Given the description of an element on the screen output the (x, y) to click on. 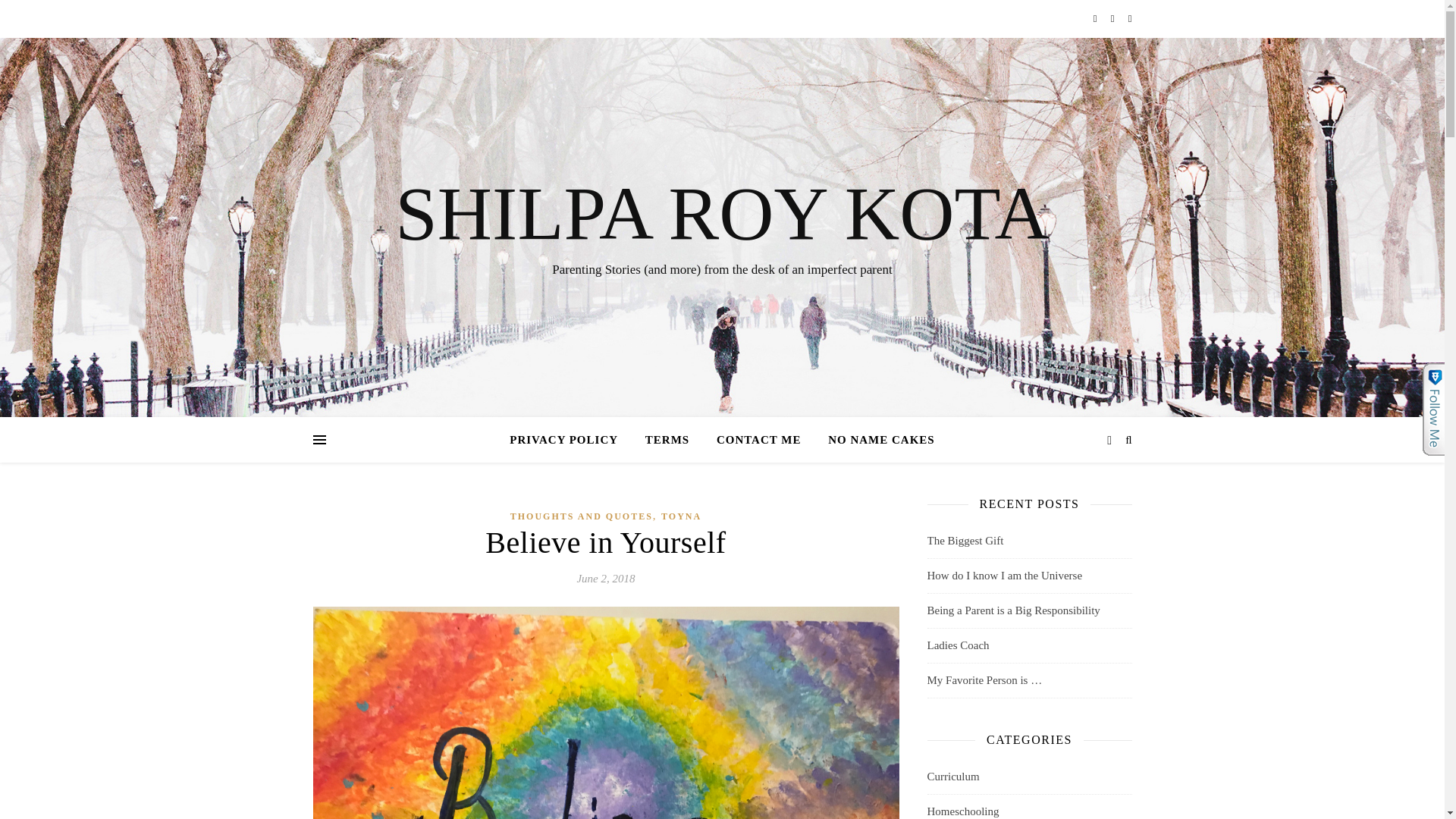
CONTACT ME (758, 439)
Homeschooling (962, 806)
TERMS (667, 439)
THOUGHTS AND QUOTES (581, 516)
Curriculum (952, 776)
TOYNA (681, 516)
NO NAME CAKES (874, 439)
The Biggest Gift (964, 540)
How do I know I am the Universe (1003, 575)
Being a Parent is a Big Responsibility (1012, 610)
